Given the description of an element on the screen output the (x, y) to click on. 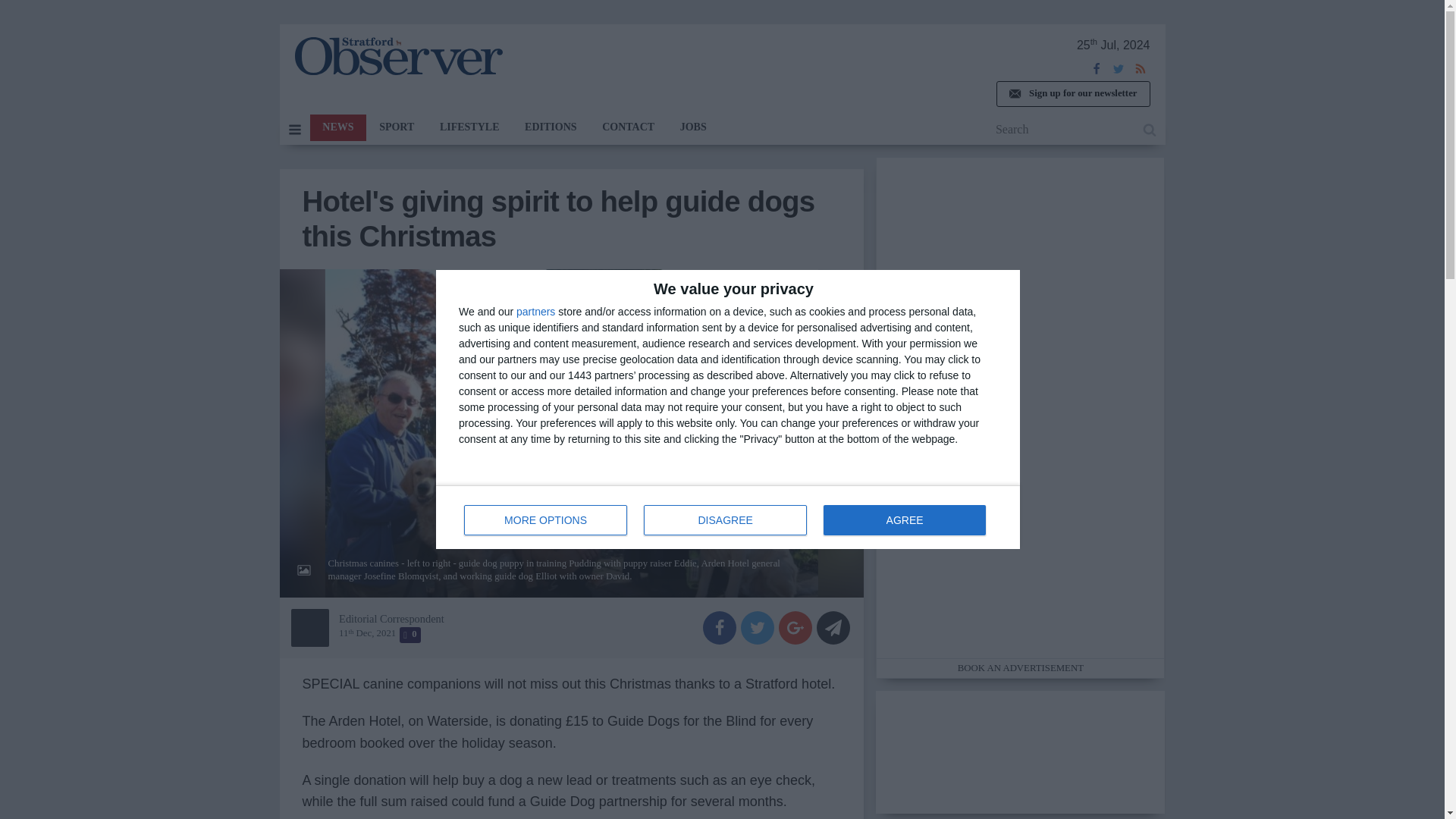
partners (535, 311)
MORE OPTIONS (545, 520)
SPORT (727, 516)
  Sign up for our newsletter (396, 127)
AGREE (1072, 94)
NEWS (904, 520)
DISAGREE (337, 127)
The Stratford Observer (724, 520)
